Given the description of an element on the screen output the (x, y) to click on. 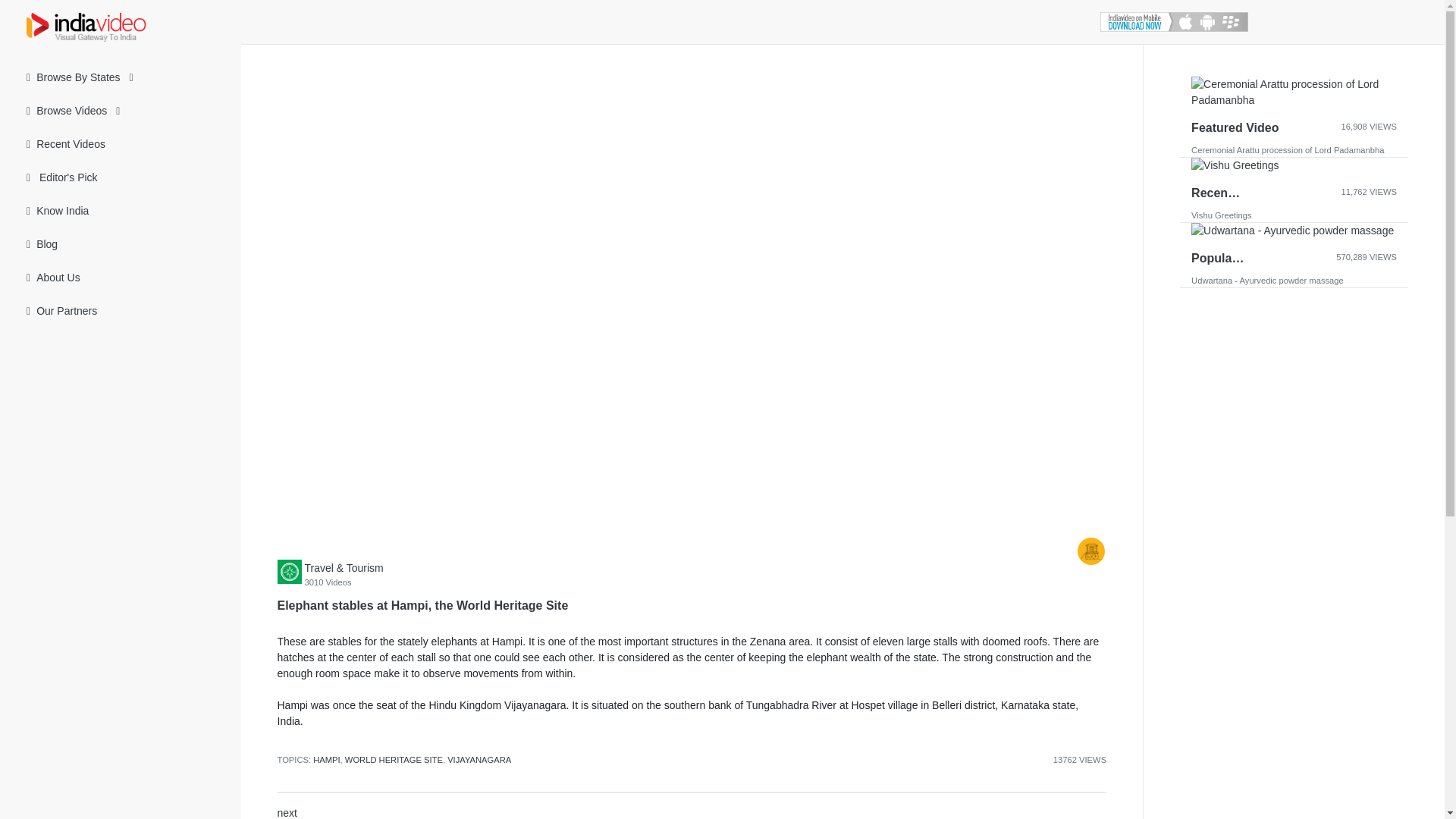
Editor's Pick (120, 177)
Recent Videos (120, 144)
Browse By States (120, 77)
Browse Videos (120, 110)
About Us (120, 277)
Blog (120, 244)
Know India (120, 211)
